Given the description of an element on the screen output the (x, y) to click on. 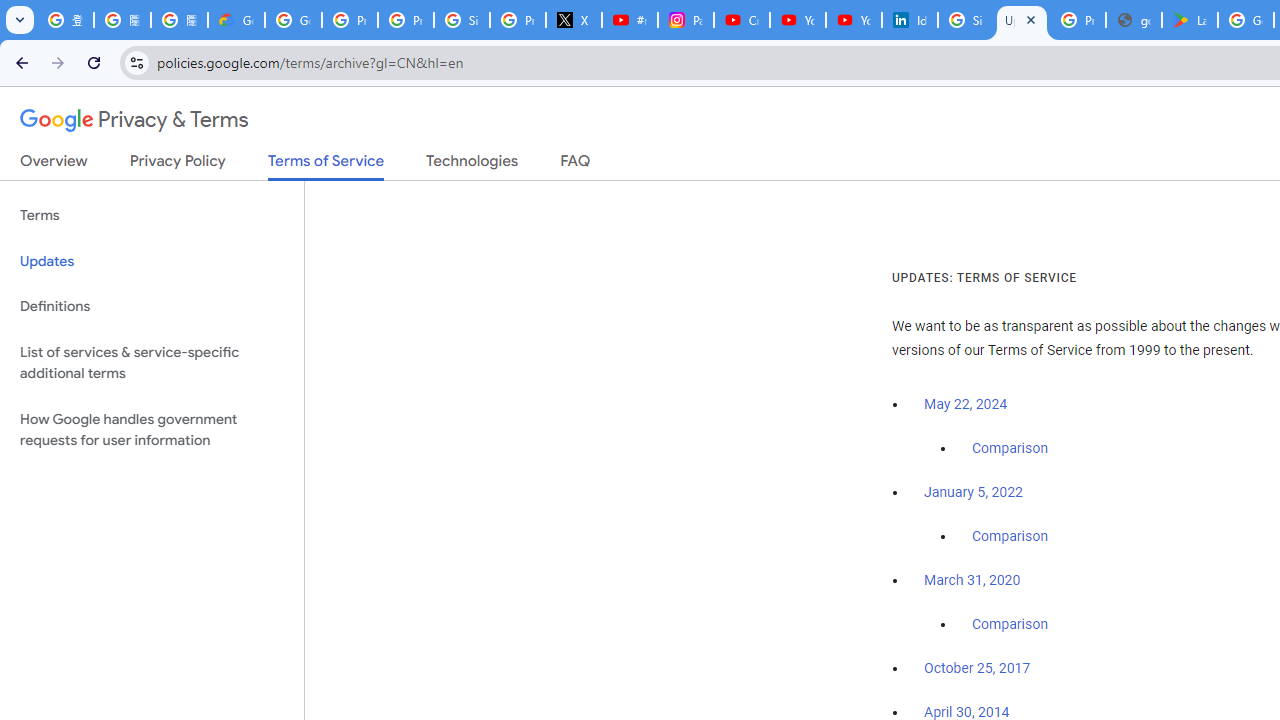
Sign in - Google Accounts (966, 20)
May 22, 2024 (966, 404)
YouTube Culture & Trends - YouTube Top 10, 2021 (853, 20)
X (573, 20)
January 5, 2022 (973, 492)
Last Shelter: Survival - Apps on Google Play (1190, 20)
